Given the description of an element on the screen output the (x, y) to click on. 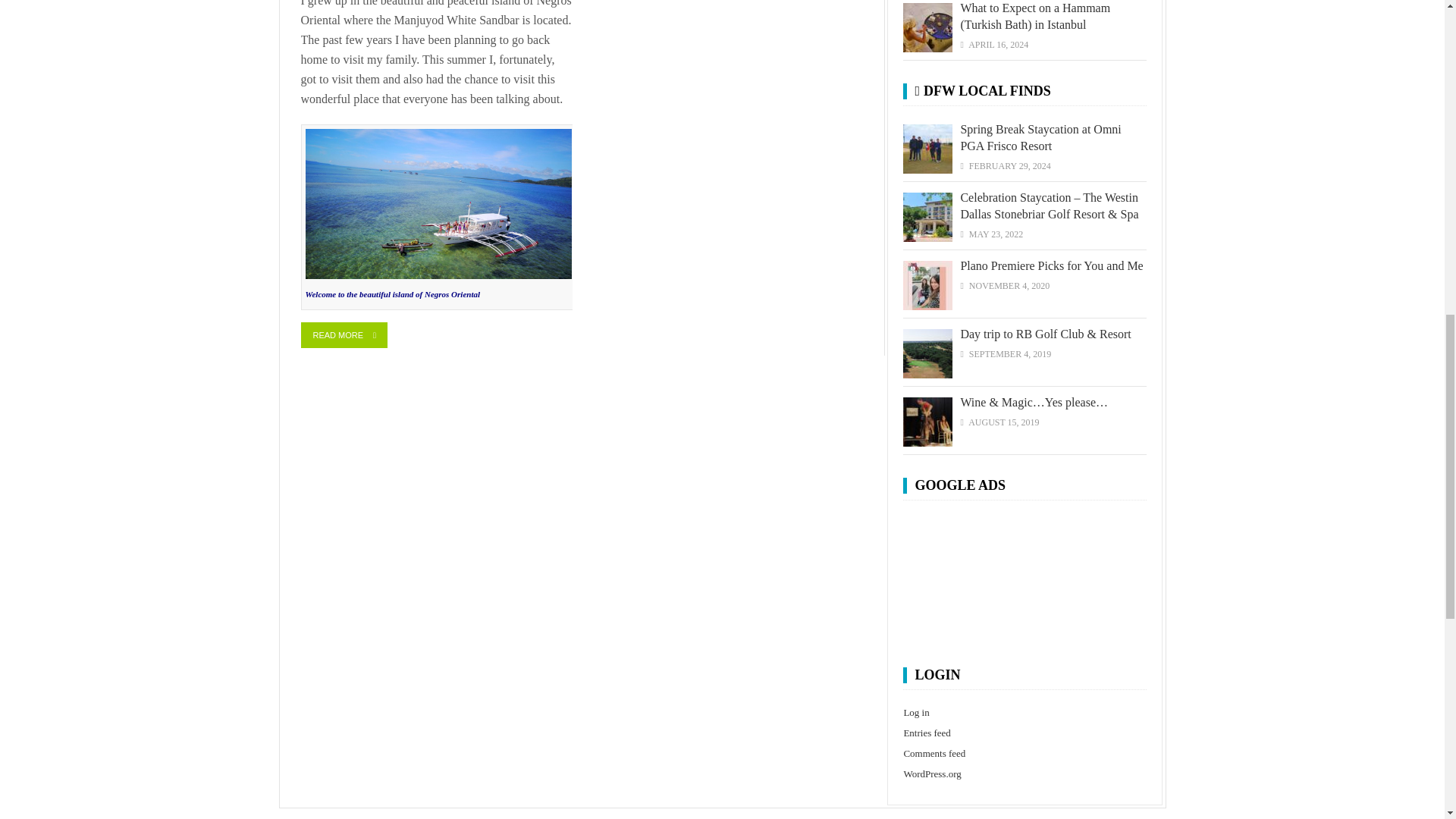
Spring Break Staycation at Omni PGA Frisco Resort (1040, 137)
Plano Premiere Picks for You and Me (1050, 265)
READ MORE (343, 335)
